Given the description of an element on the screen output the (x, y) to click on. 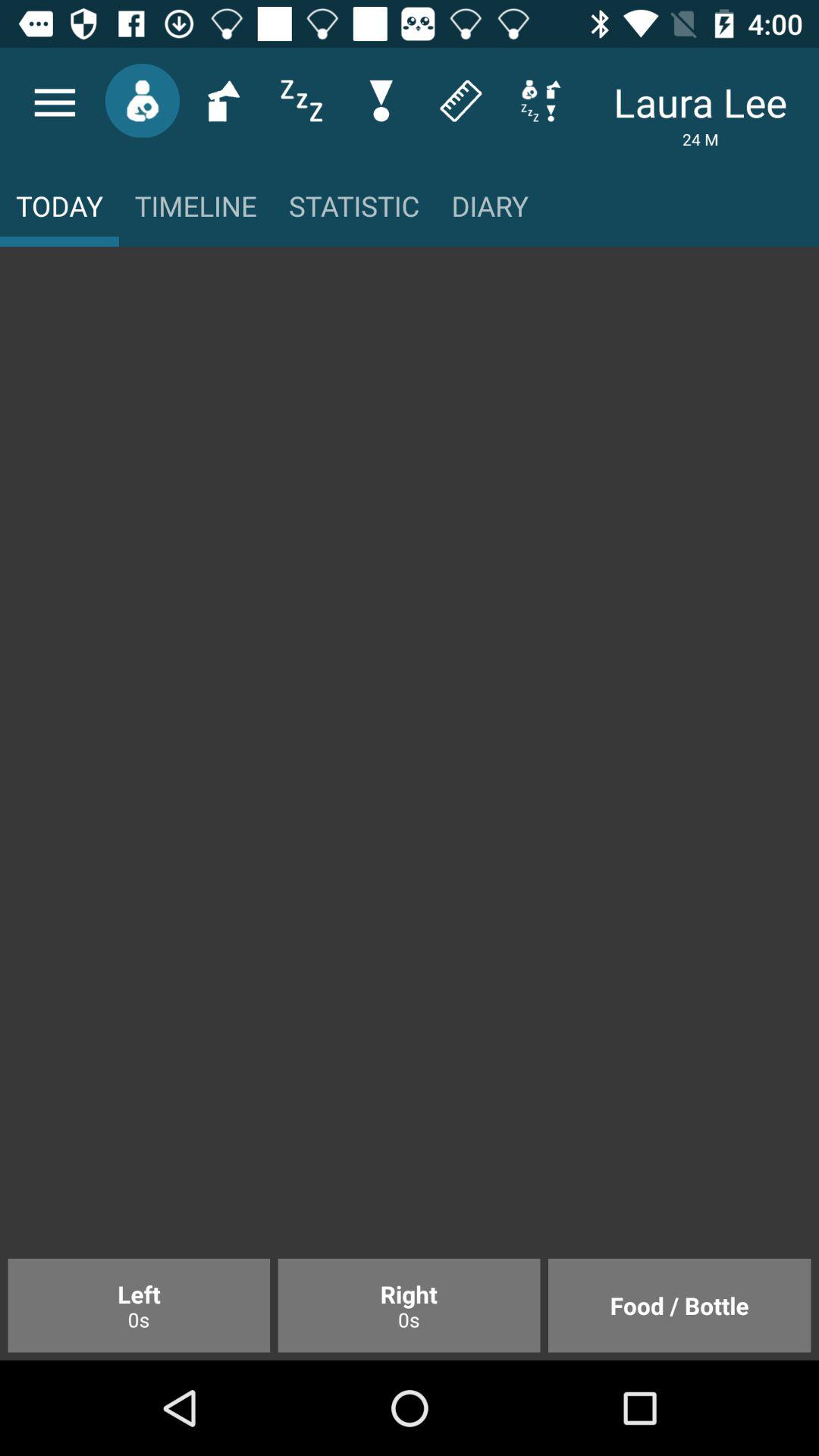
tap the icon at the center (409, 760)
